Given the description of an element on the screen output the (x, y) to click on. 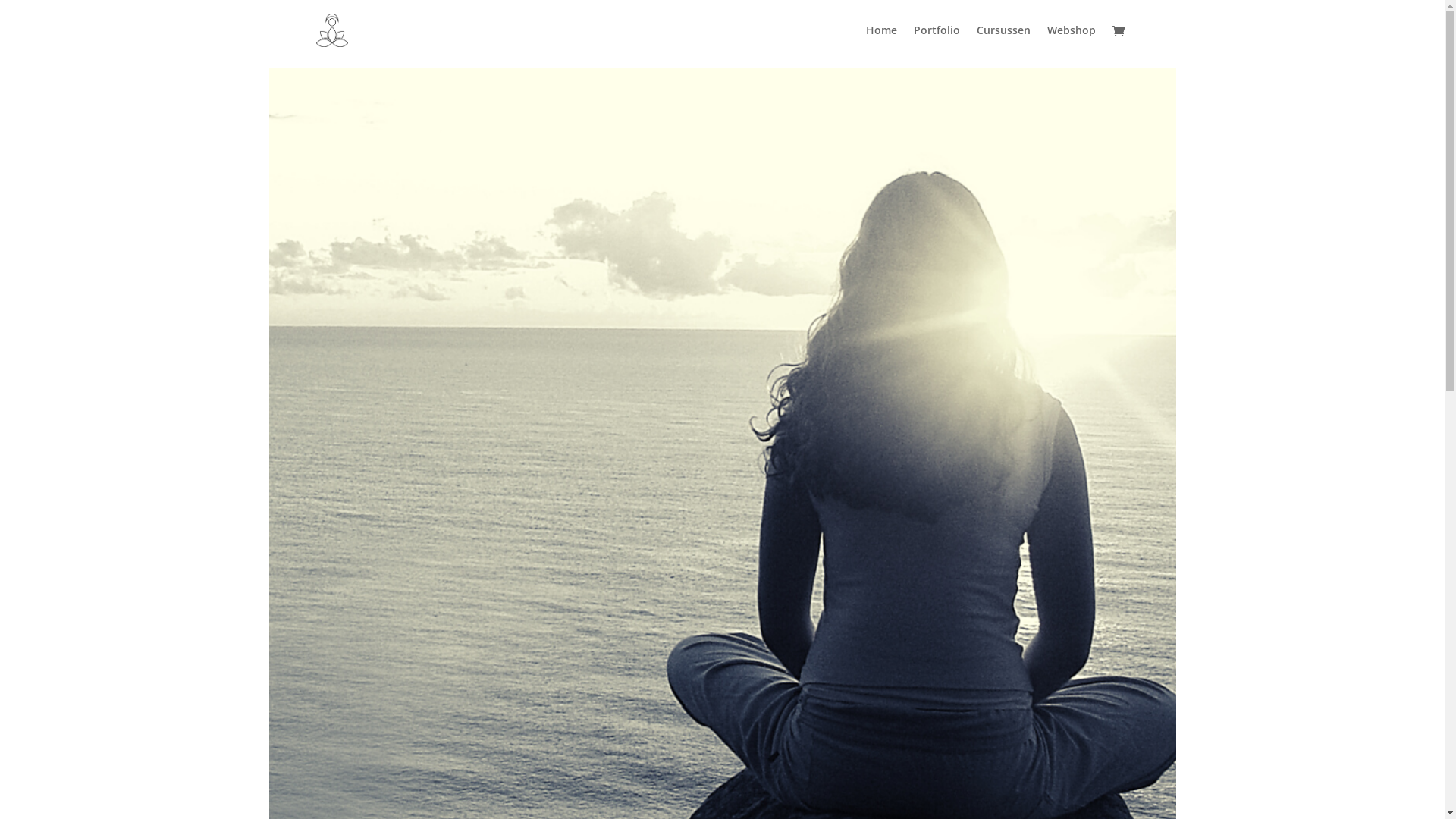
Cursussen Element type: text (1003, 42)
Home Element type: text (881, 42)
Webshop Element type: text (1070, 42)
Portfolio Element type: text (936, 42)
